Given the description of an element on the screen output the (x, y) to click on. 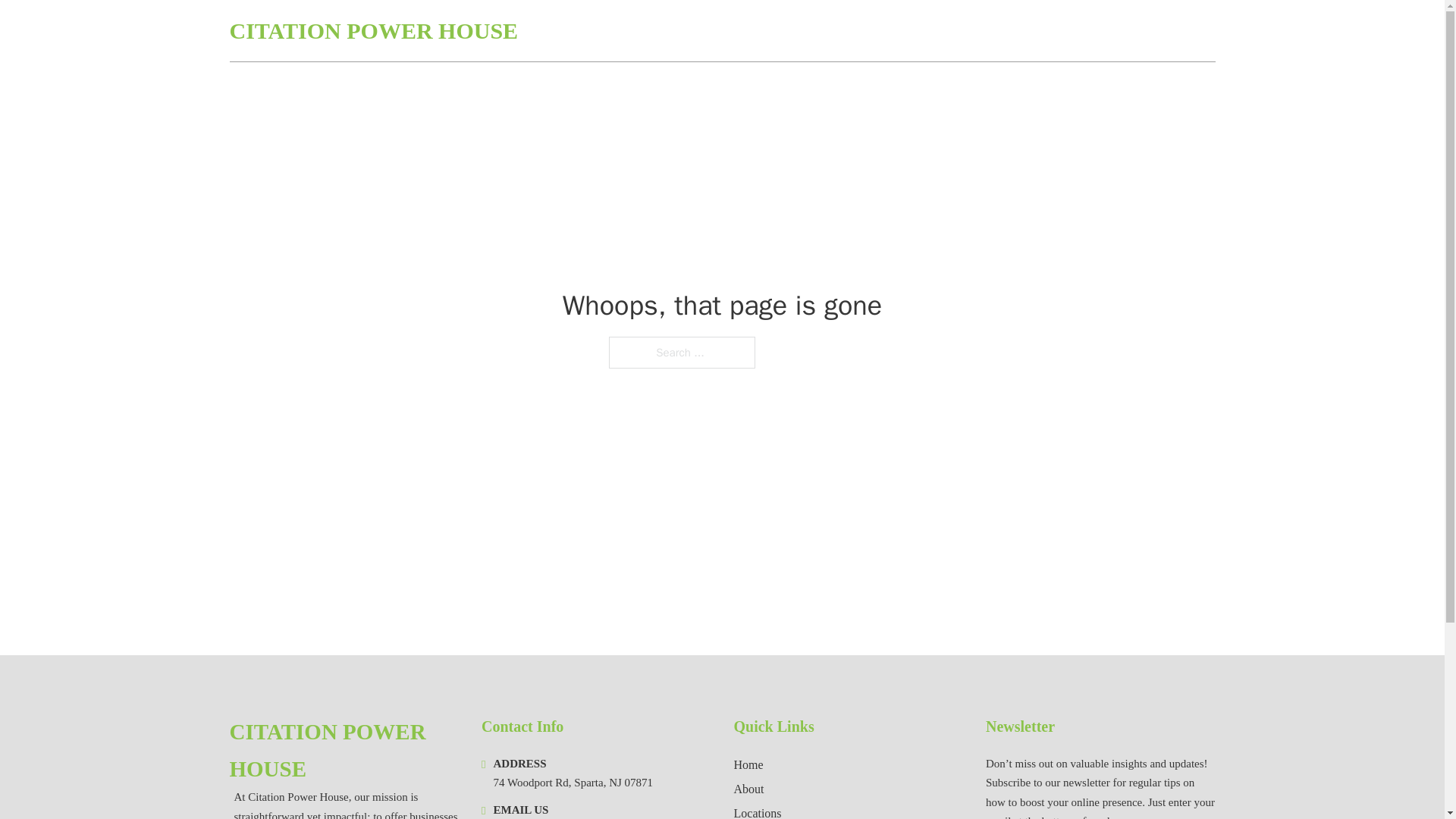
CITATION POWER HOUSE (373, 30)
About (748, 788)
CITATION POWER HOUSE (343, 750)
HOME (1032, 31)
Locations (757, 811)
LOCATIONS (1105, 31)
Home (747, 764)
